Given the description of an element on the screen output the (x, y) to click on. 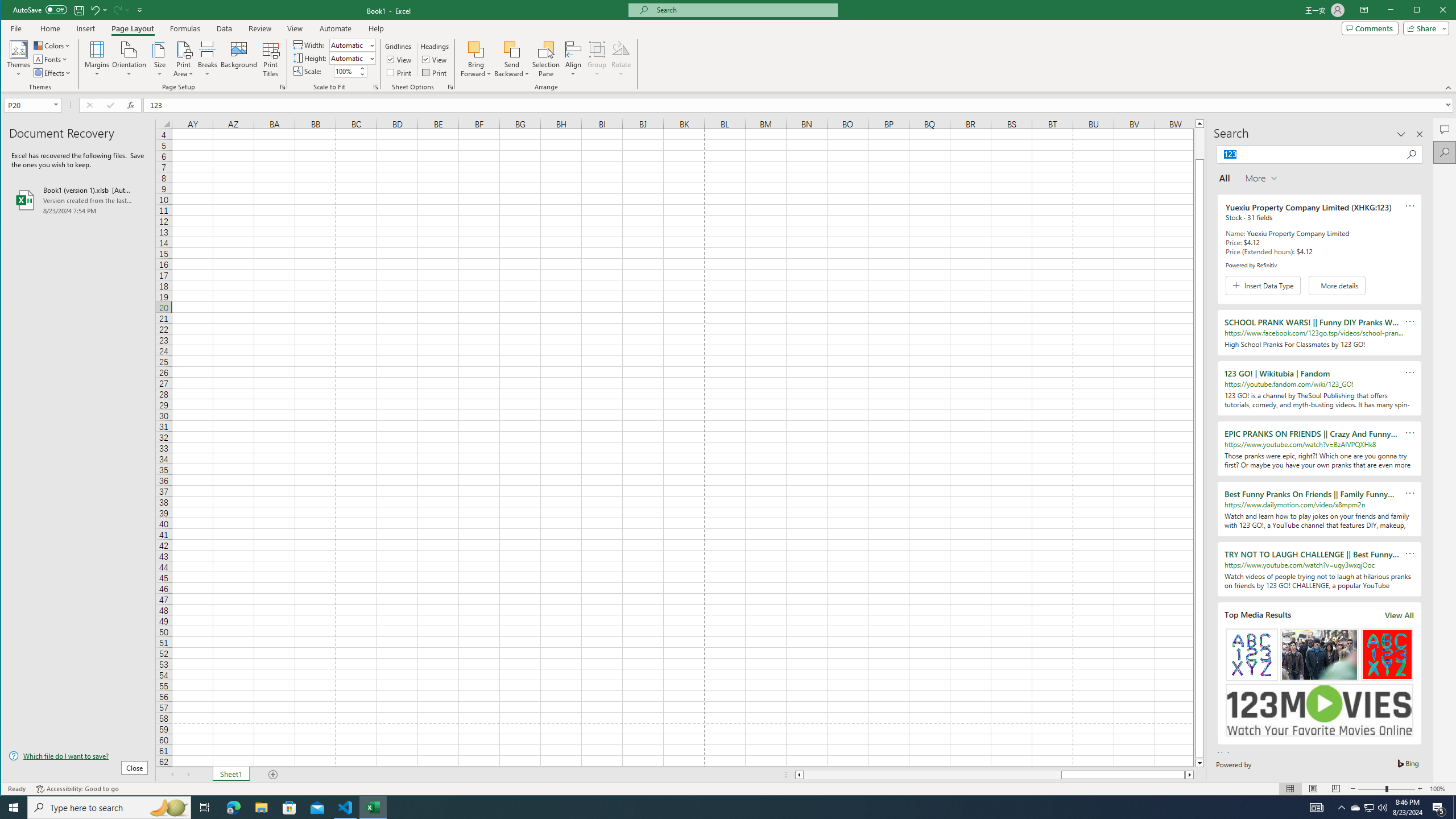
Microsoft Edge (233, 807)
Orientation (129, 59)
More (361, 68)
Visual Studio Code - 1 running window (345, 807)
Show desktop (1454, 807)
Themes (18, 59)
Notification Chevron (1341, 807)
